Given the description of an element on the screen output the (x, y) to click on. 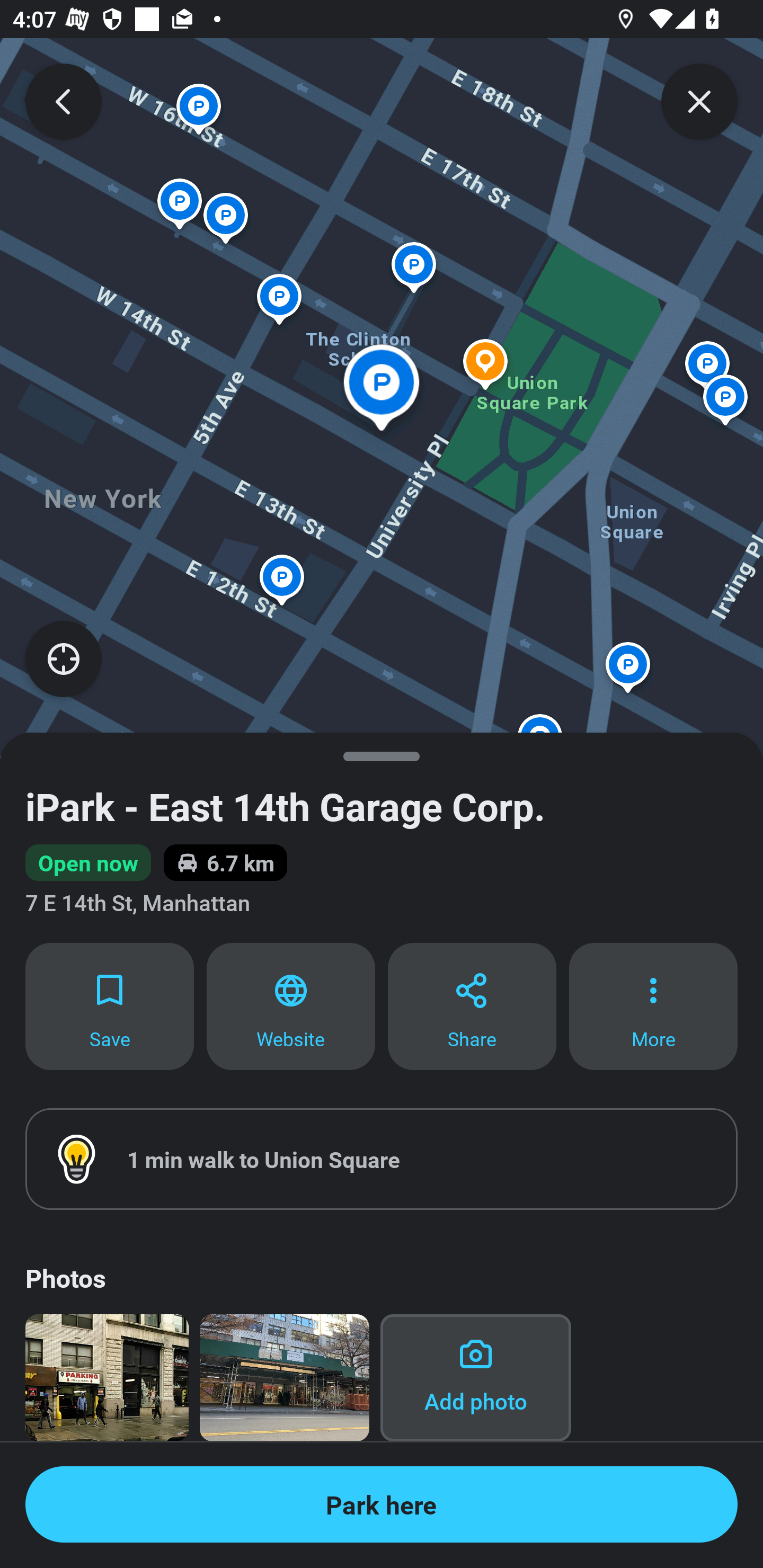
Save (109, 1005)
Website (290, 1005)
Share (471, 1005)
More (653, 1005)
Add photo (475, 1376)
Park here (381, 1504)
